Given the description of an element on the screen output the (x, y) to click on. 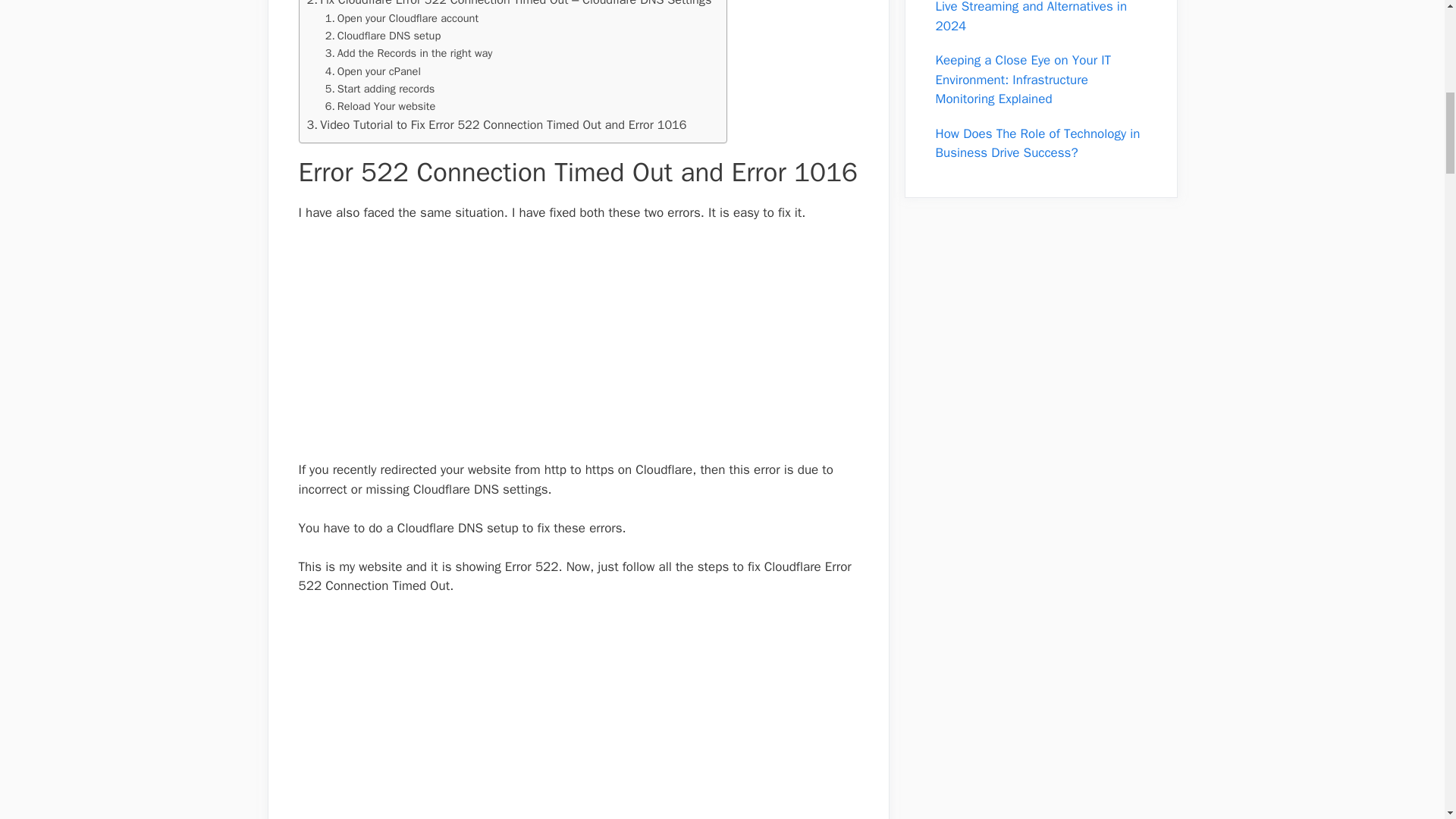
Start adding records (379, 88)
Cloudflare DNS setup (382, 36)
Start adding records (379, 88)
Cloudflare DNS setup (382, 36)
Open your Cloudflare account (401, 18)
Add the Records in the right way (408, 53)
Open your cPanel (372, 71)
Reload Your website (379, 106)
